Given the description of an element on the screen output the (x, y) to click on. 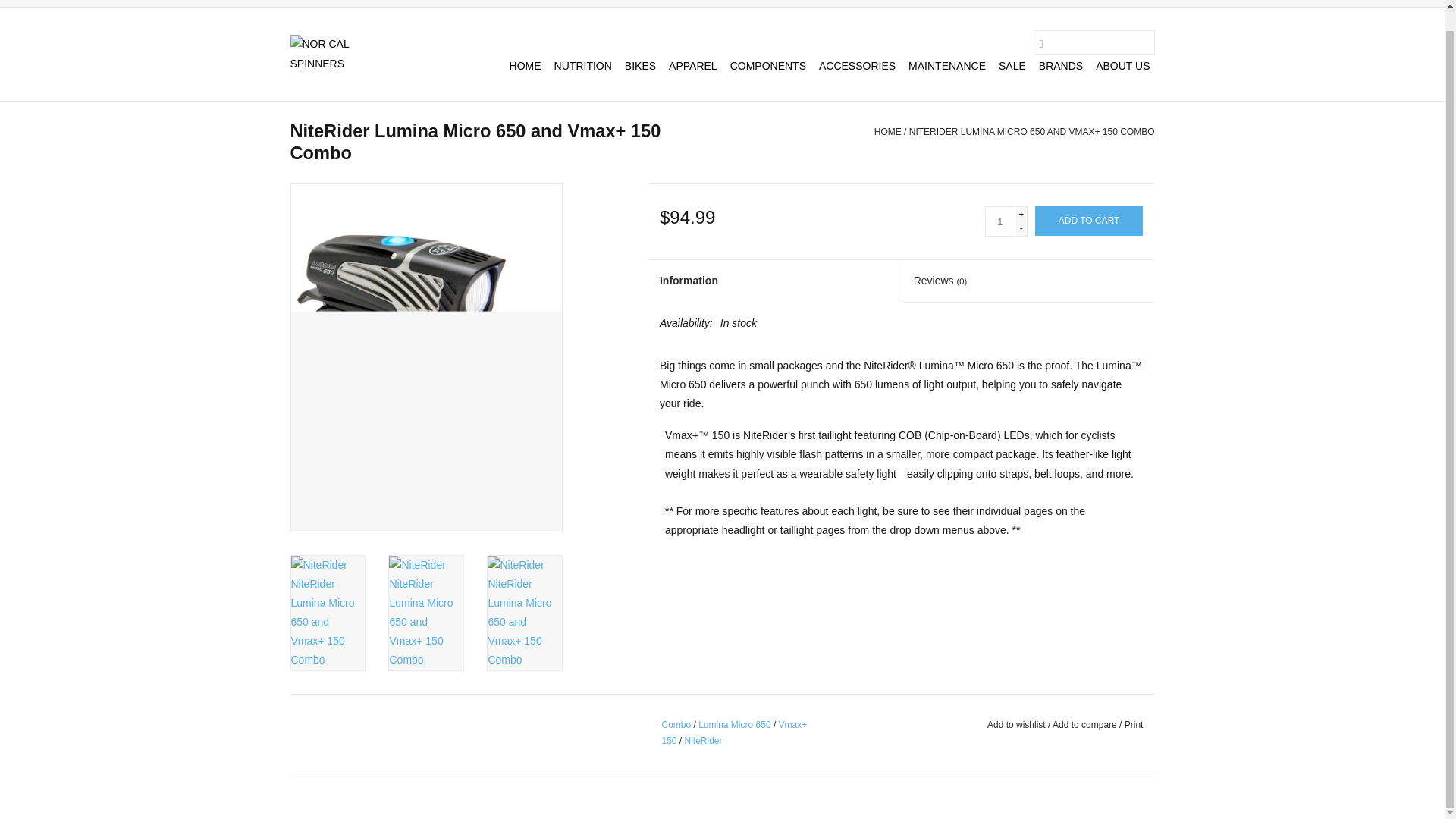
HOME (525, 65)
NOR CAL SPINNERS (346, 53)
Bikes (640, 65)
Nutrition (582, 65)
NUTRITION (582, 65)
1 (999, 221)
BIKES (640, 65)
APPAREL (692, 65)
